Given the description of an element on the screen output the (x, y) to click on. 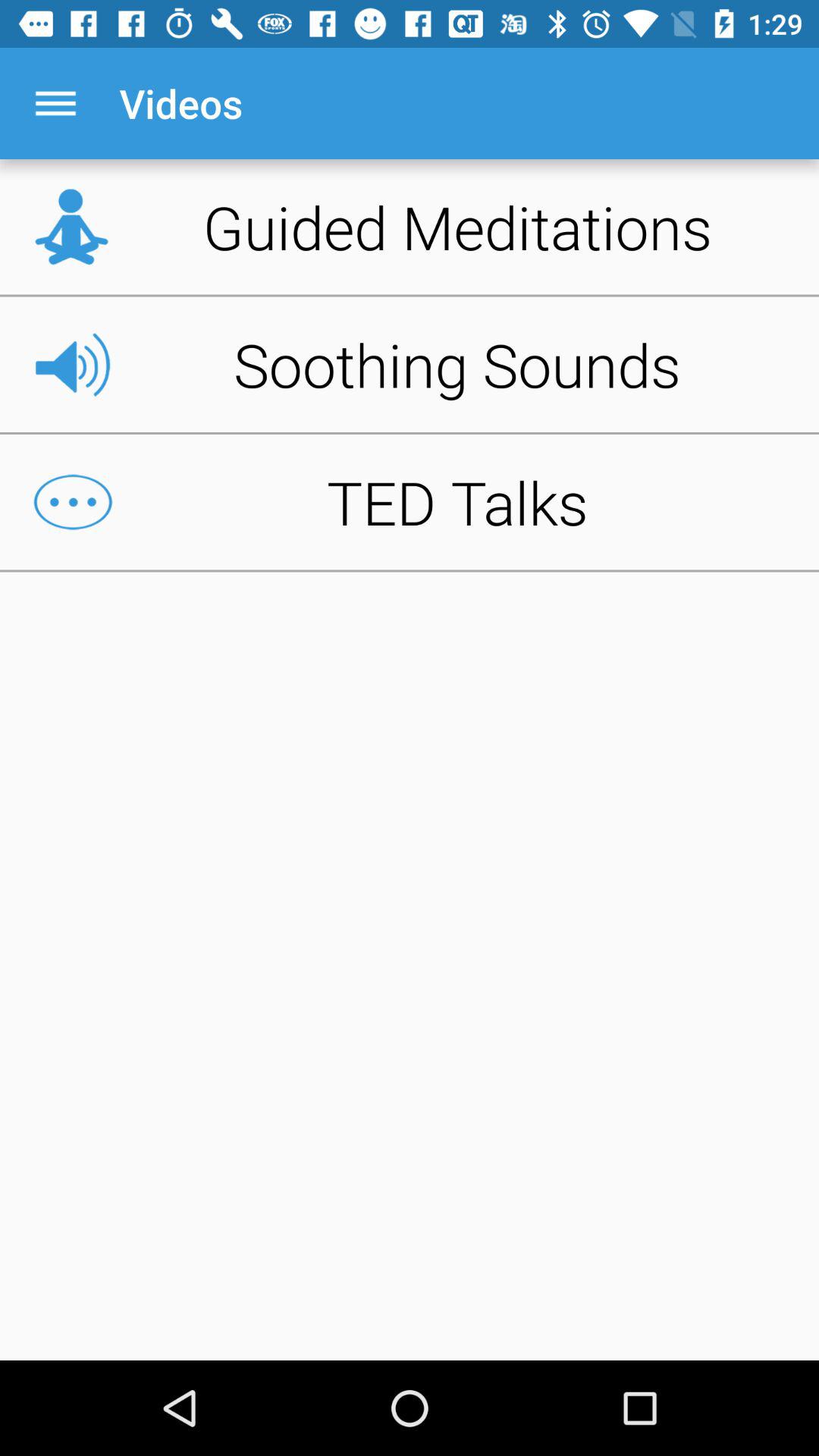
turn on the icon next to the videos item (55, 103)
